Given the description of an element on the screen output the (x, y) to click on. 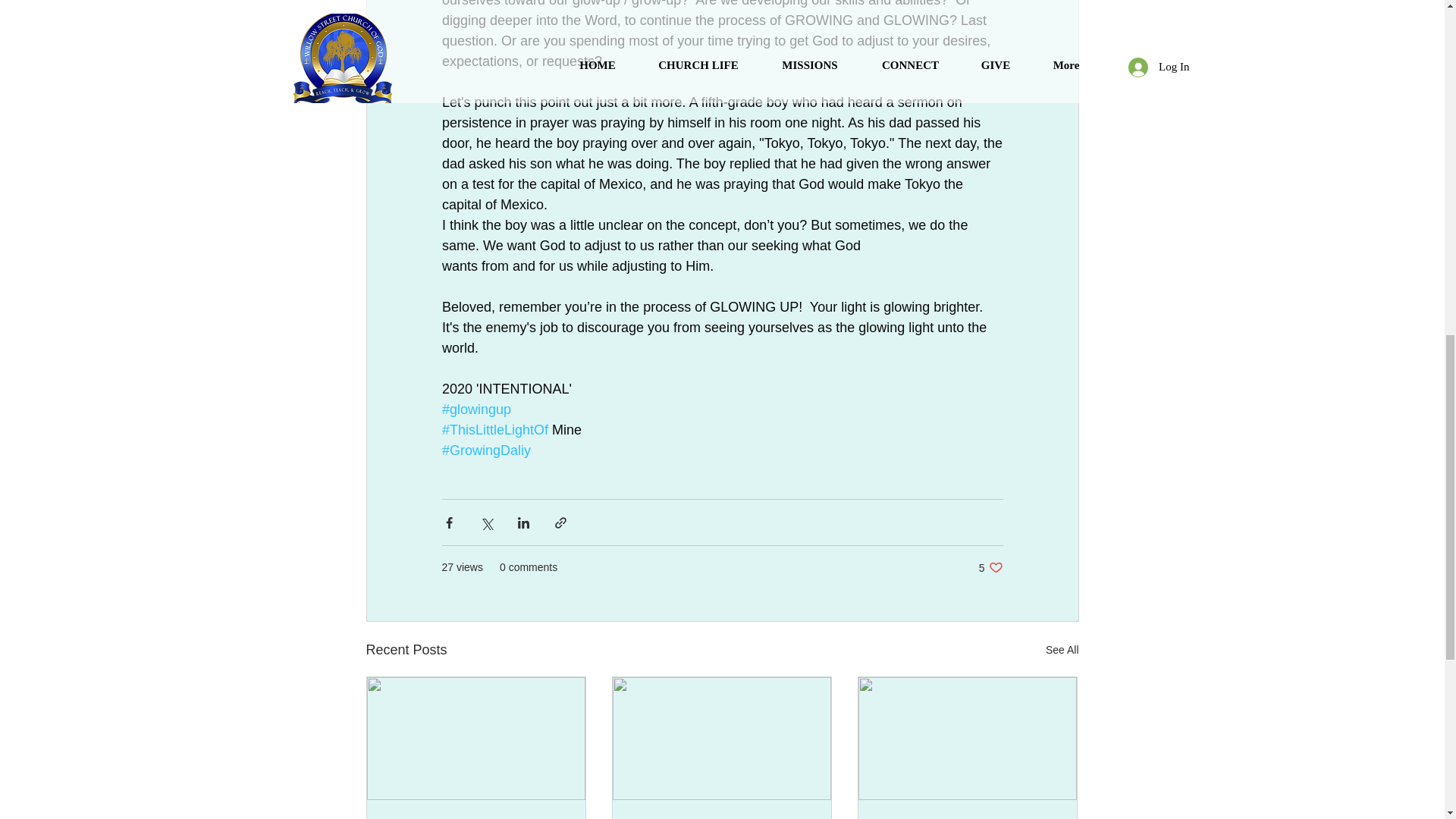
See All (1061, 649)
Reflections on John 3:16 (990, 567)
